Given the description of an element on the screen output the (x, y) to click on. 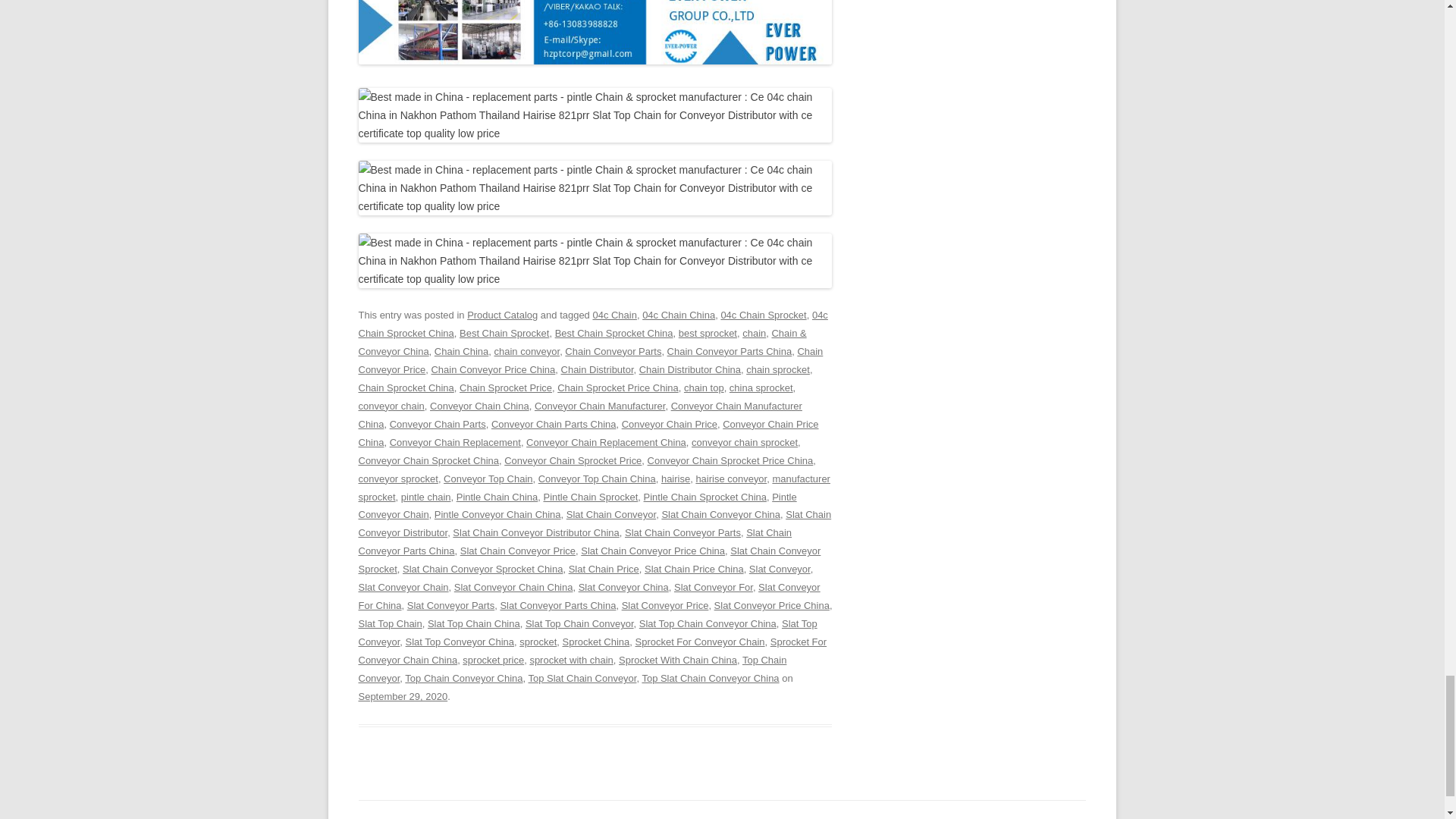
Chain Sprocket Price China (617, 387)
best sprocket (707, 333)
chain conveyor (527, 351)
Conveyor Chain Price China (588, 432)
chain sprocket (777, 369)
Conveyor Chain Parts China (553, 423)
Conveyor Chain Manufacturer China (580, 414)
Best Chain Sprocket (504, 333)
Chain Sprocket China (405, 387)
5:53 am (402, 696)
